Given the description of an element on the screen output the (x, y) to click on. 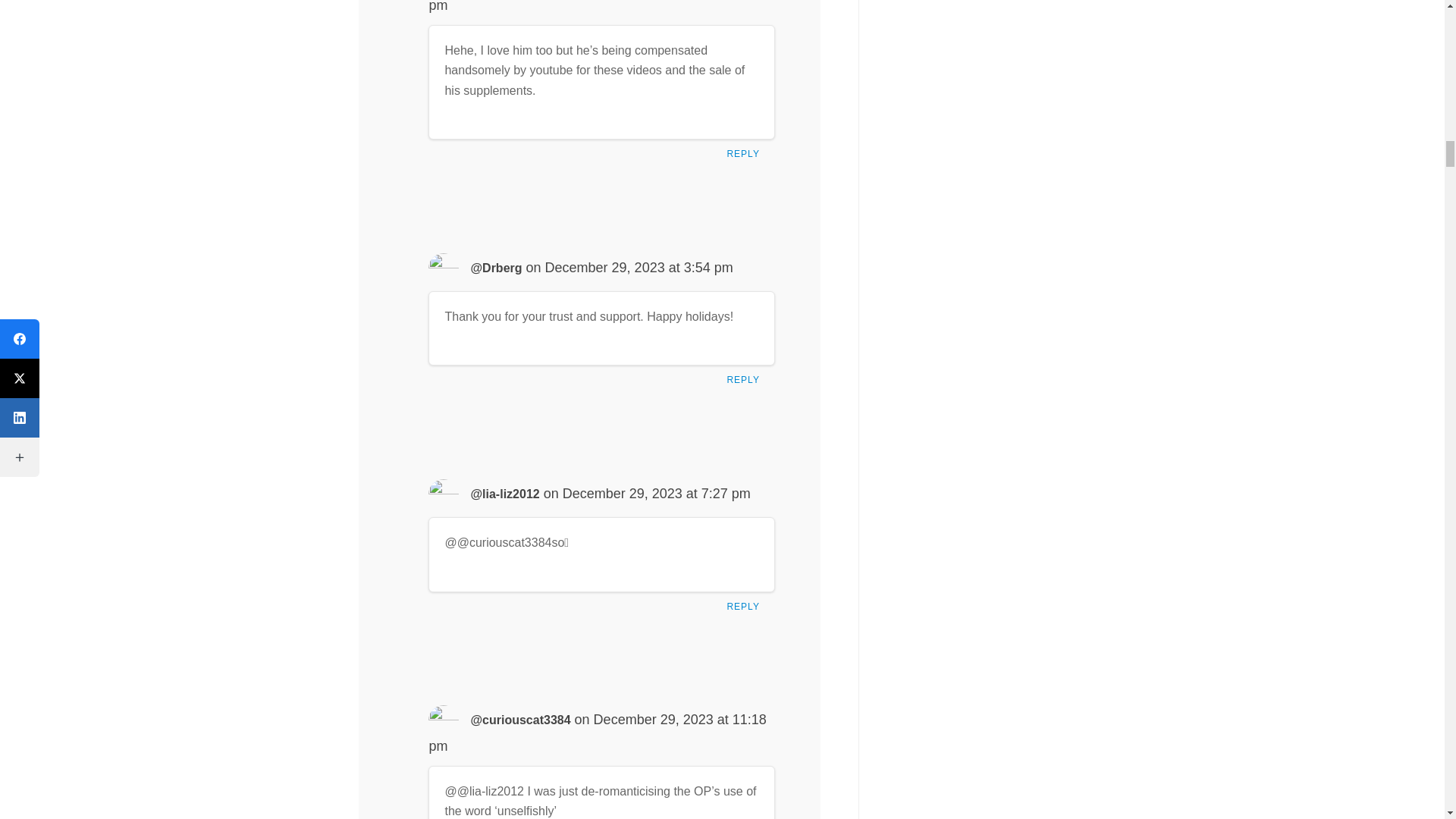
REPLY (746, 610)
REPLY (746, 157)
REPLY (746, 383)
